Given the description of an element on the screen output the (x, y) to click on. 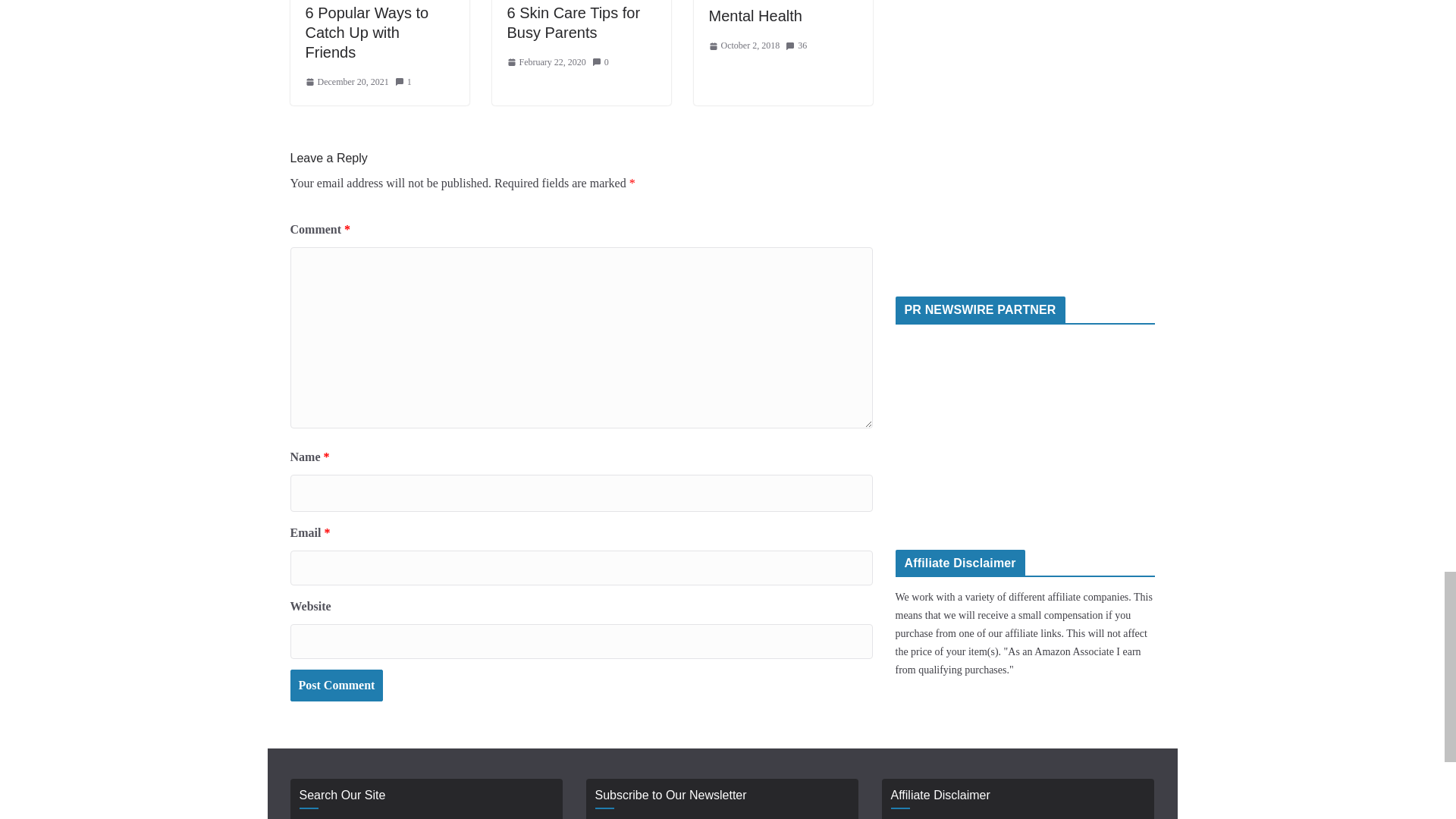
1:24 pm (346, 82)
6 Popular Ways to Catch Up with Friends (366, 32)
Post Comment (335, 685)
